Given the description of an element on the screen output the (x, y) to click on. 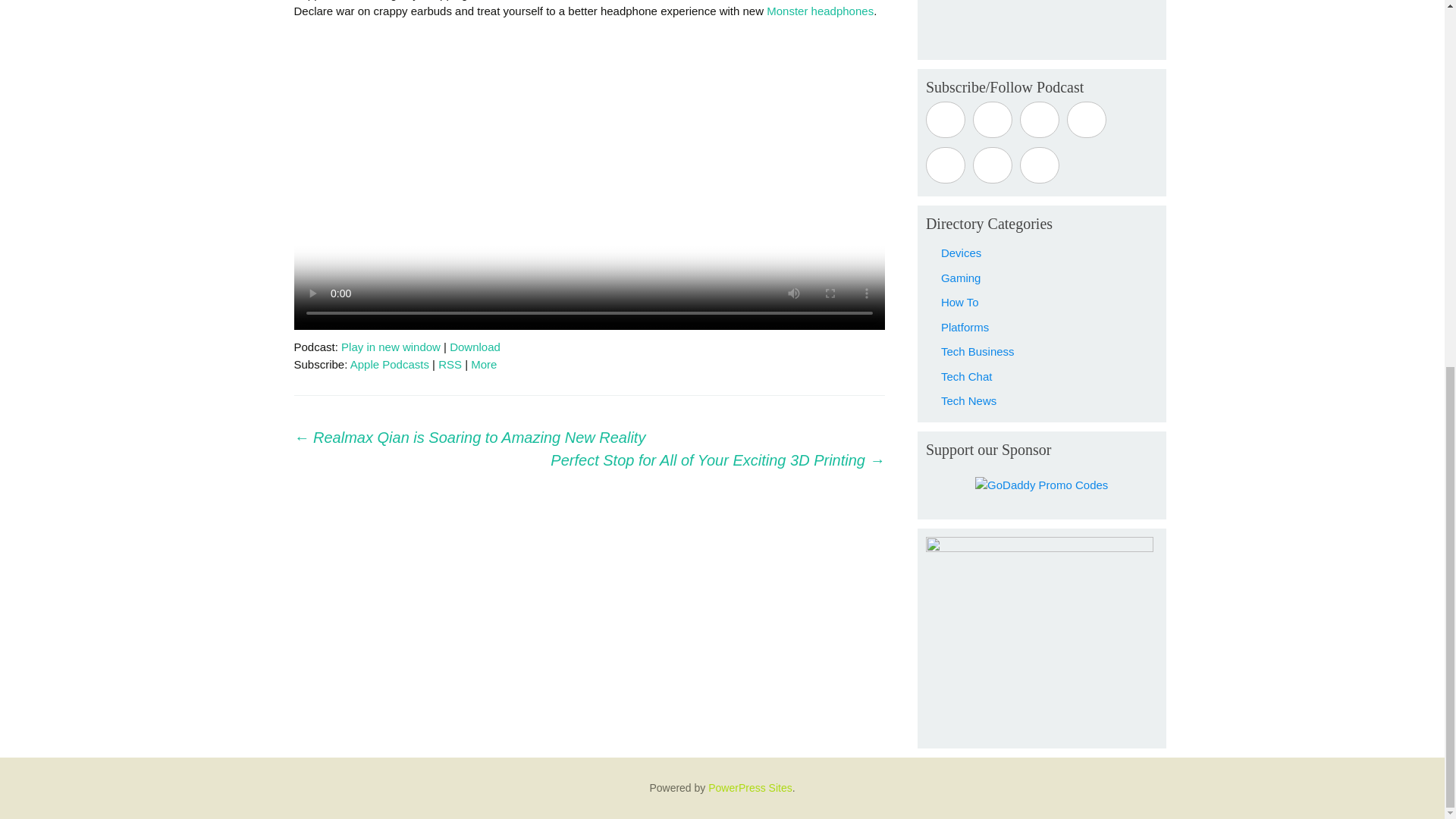
Subscribe via RSS (991, 165)
Download (474, 346)
More Subscribe Options (1039, 165)
Subscribe on Android (991, 119)
godaddy-promo-codes (1041, 485)
Managed WordPress Hosting for your audio and video website (749, 787)
More (483, 364)
Download (474, 346)
RSS (449, 364)
Play in new window (390, 346)
Apple Podcasts (389, 364)
Subscribe on Podcast Index (1086, 119)
Subscribe on Blubrry (1039, 119)
Subscribe by Email (945, 165)
More (483, 364)
